Given the description of an element on the screen output the (x, y) to click on. 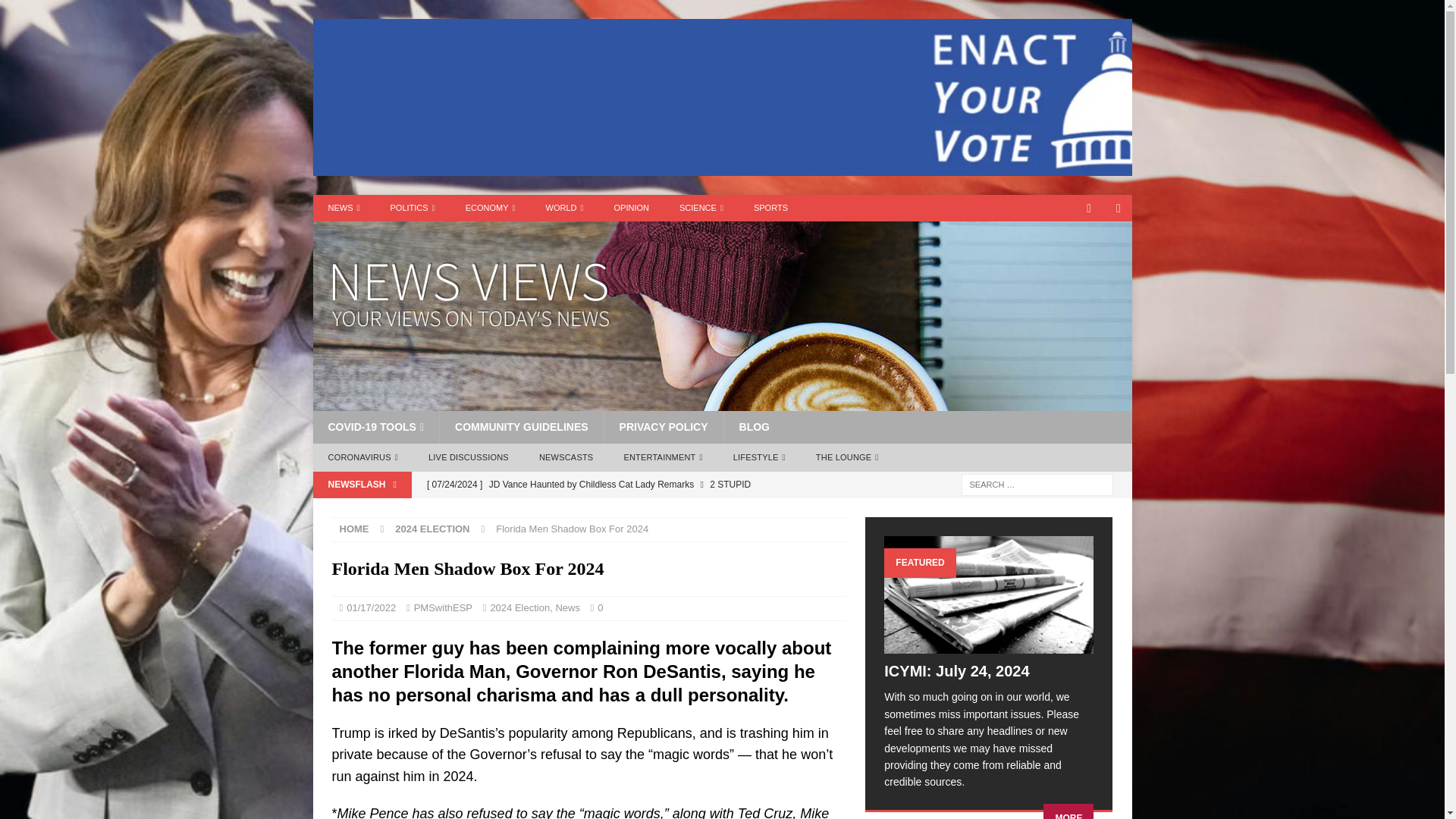
ICYMI: July 24, 2024 (988, 594)
News Views (722, 402)
JD Vance Haunted by Childless Cat Lady Remarks (631, 484)
NEWS (343, 207)
POLITICS (412, 207)
ICYMI: July 24, 2024 (956, 670)
